Given the description of an element on the screen output the (x, y) to click on. 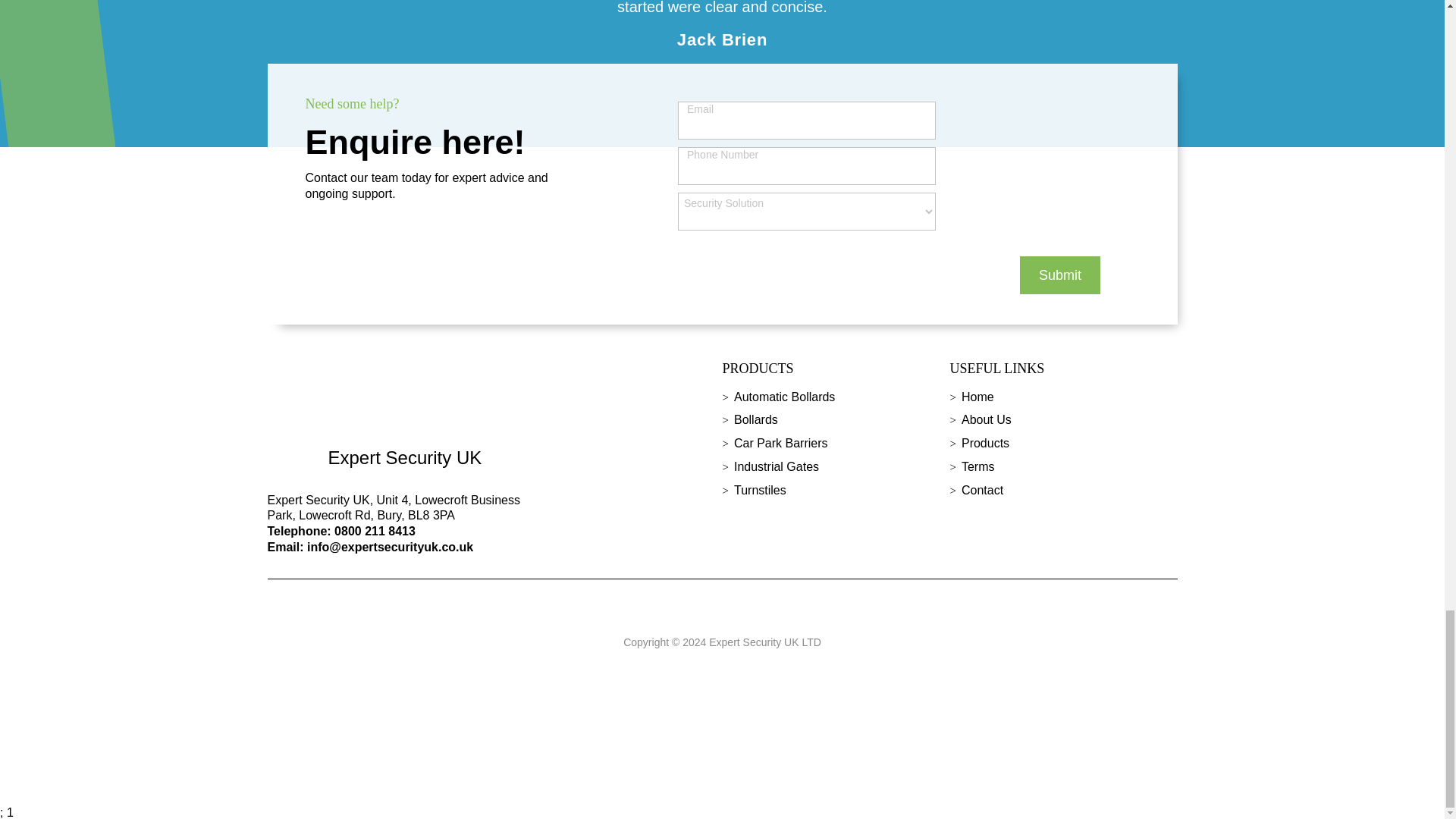
Submit (1060, 275)
